Given the description of an element on the screen output the (x, y) to click on. 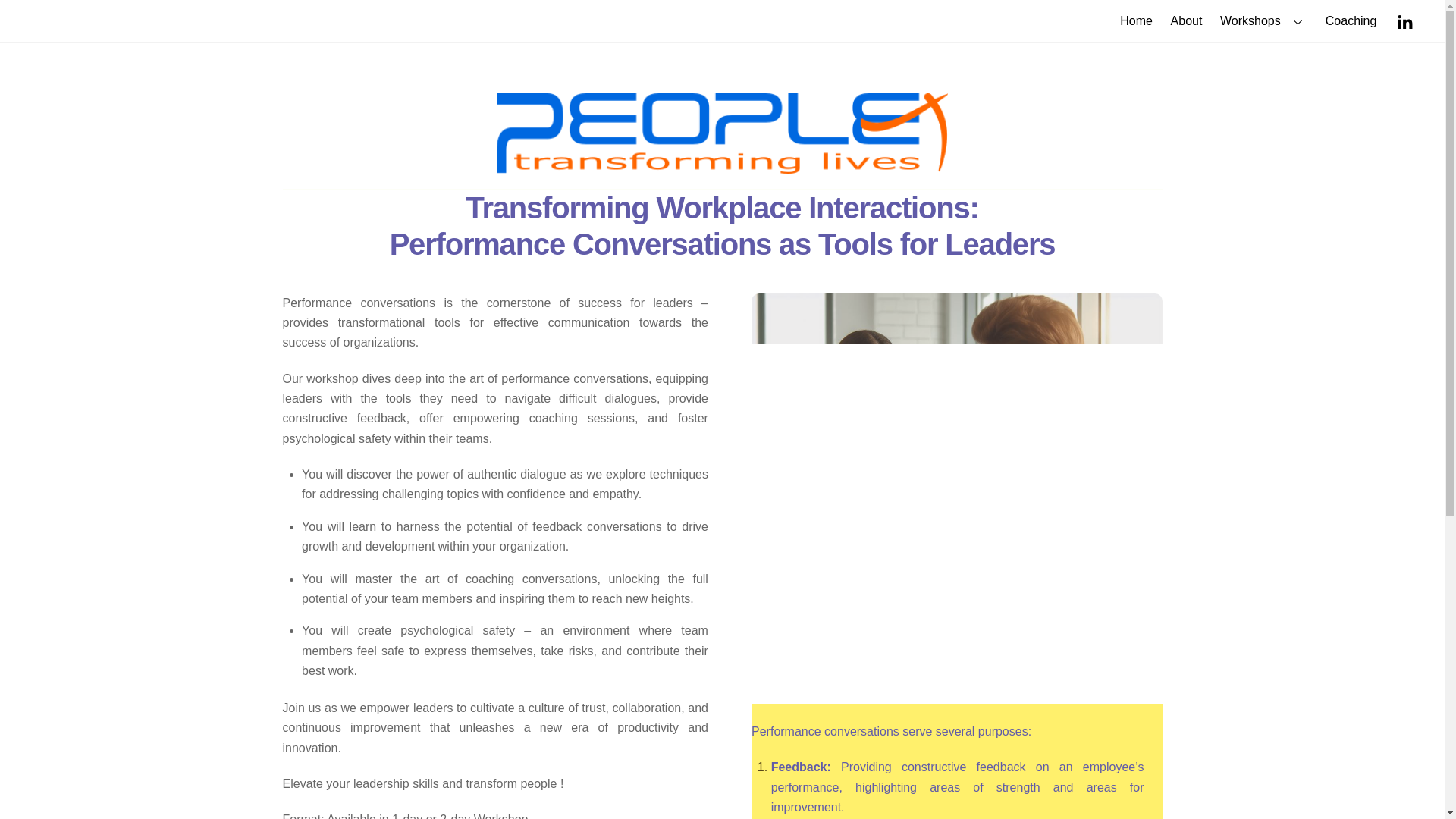
Home (1136, 21)
Coaching (1350, 21)
Performance Conversations (721, 132)
Workshops (1263, 21)
About (1186, 21)
